Given the description of an element on the screen output the (x, y) to click on. 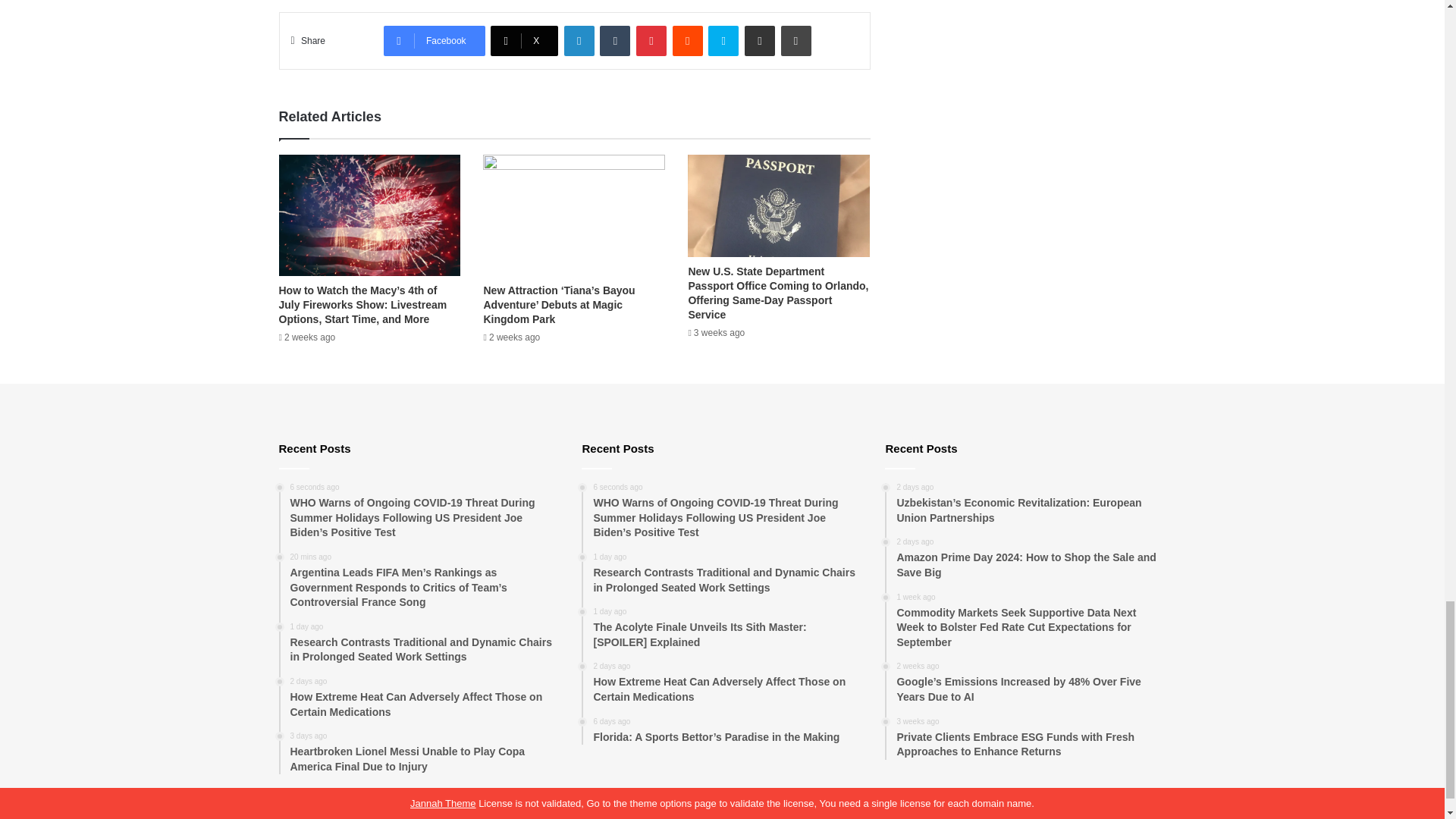
Skype (722, 40)
Share via Email (759, 40)
Tumblr (614, 40)
Facebook (434, 40)
Pinterest (651, 40)
Tumblr (614, 40)
X (523, 40)
Reddit (687, 40)
Pinterest (651, 40)
LinkedIn (579, 40)
Print (795, 40)
Share via Email (759, 40)
LinkedIn (579, 40)
Facebook (434, 40)
X (523, 40)
